Given the description of an element on the screen output the (x, y) to click on. 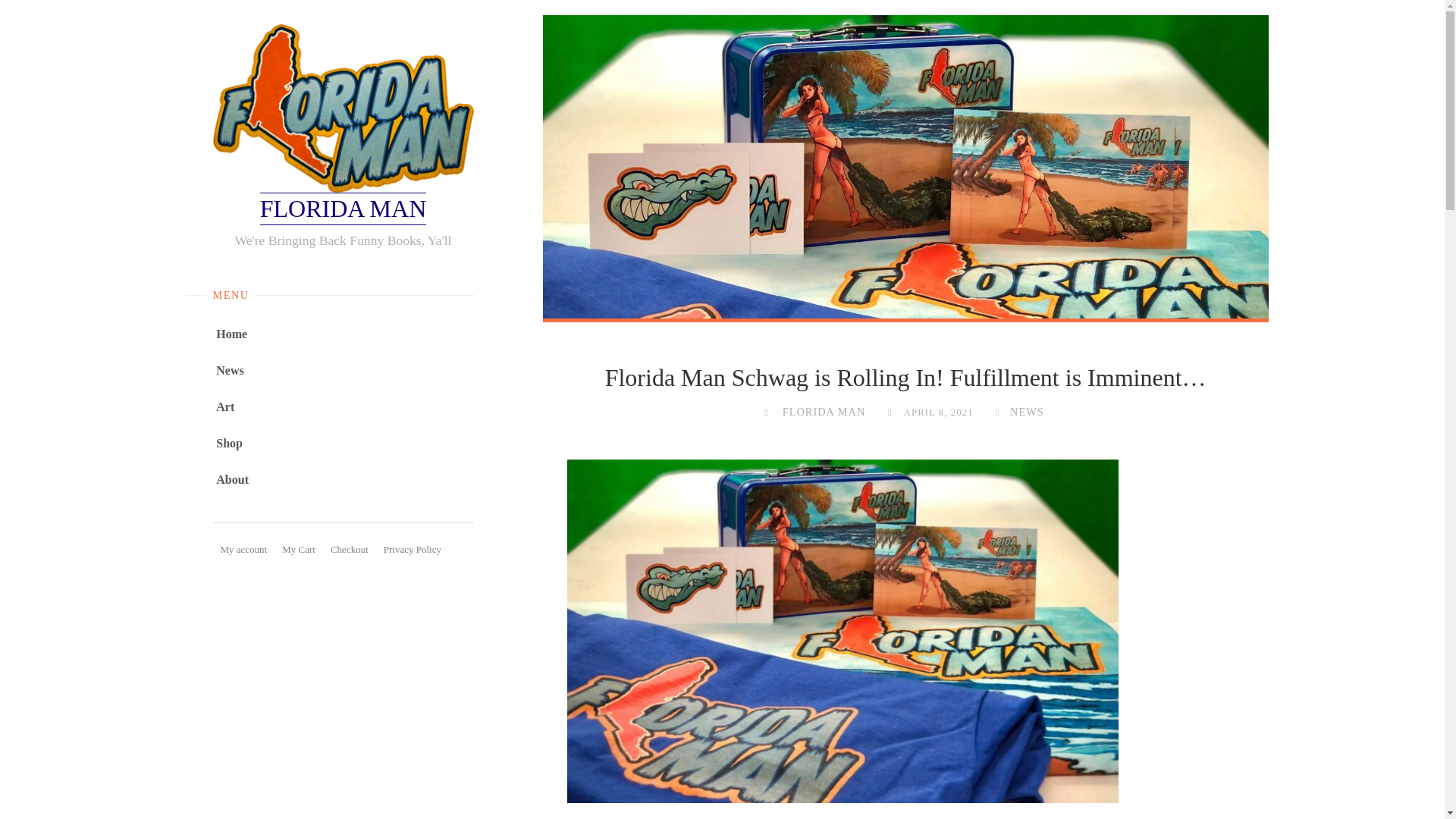
NEWS (1025, 411)
Categories (997, 411)
About (231, 479)
My account (243, 549)
FLORIDA MAN (343, 209)
My Cart (299, 549)
Checkout (349, 549)
View all posts by Florida Man (823, 411)
We're Bringing Back Funny Books, Ya'll (343, 209)
FLORIDA MAN (823, 411)
Date (889, 411)
Privacy Policy (411, 549)
Florida Man (342, 108)
Author (765, 411)
